Given the description of an element on the screen output the (x, y) to click on. 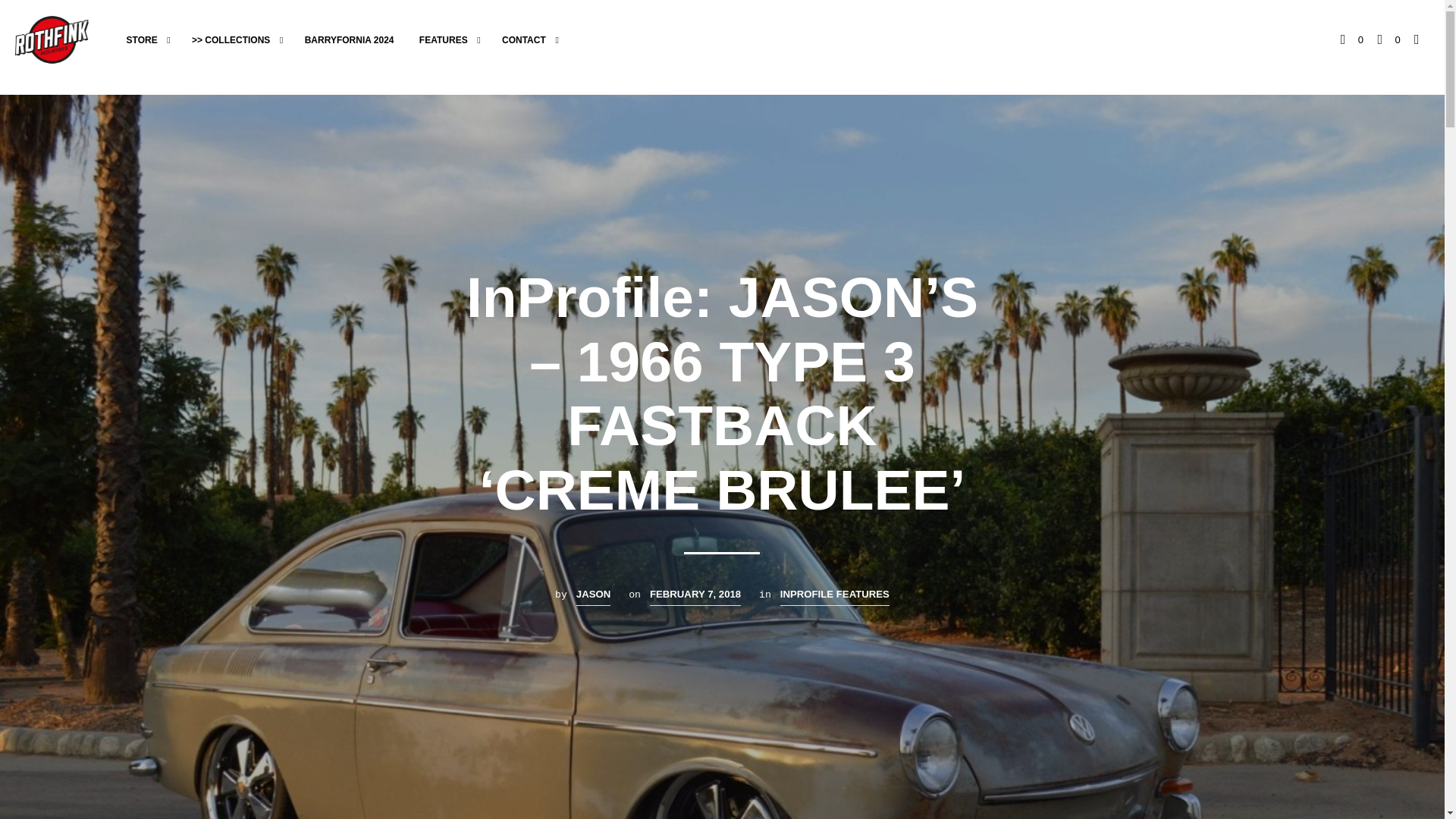
View all posts by Jason (593, 596)
